Given the description of an element on the screen output the (x, y) to click on. 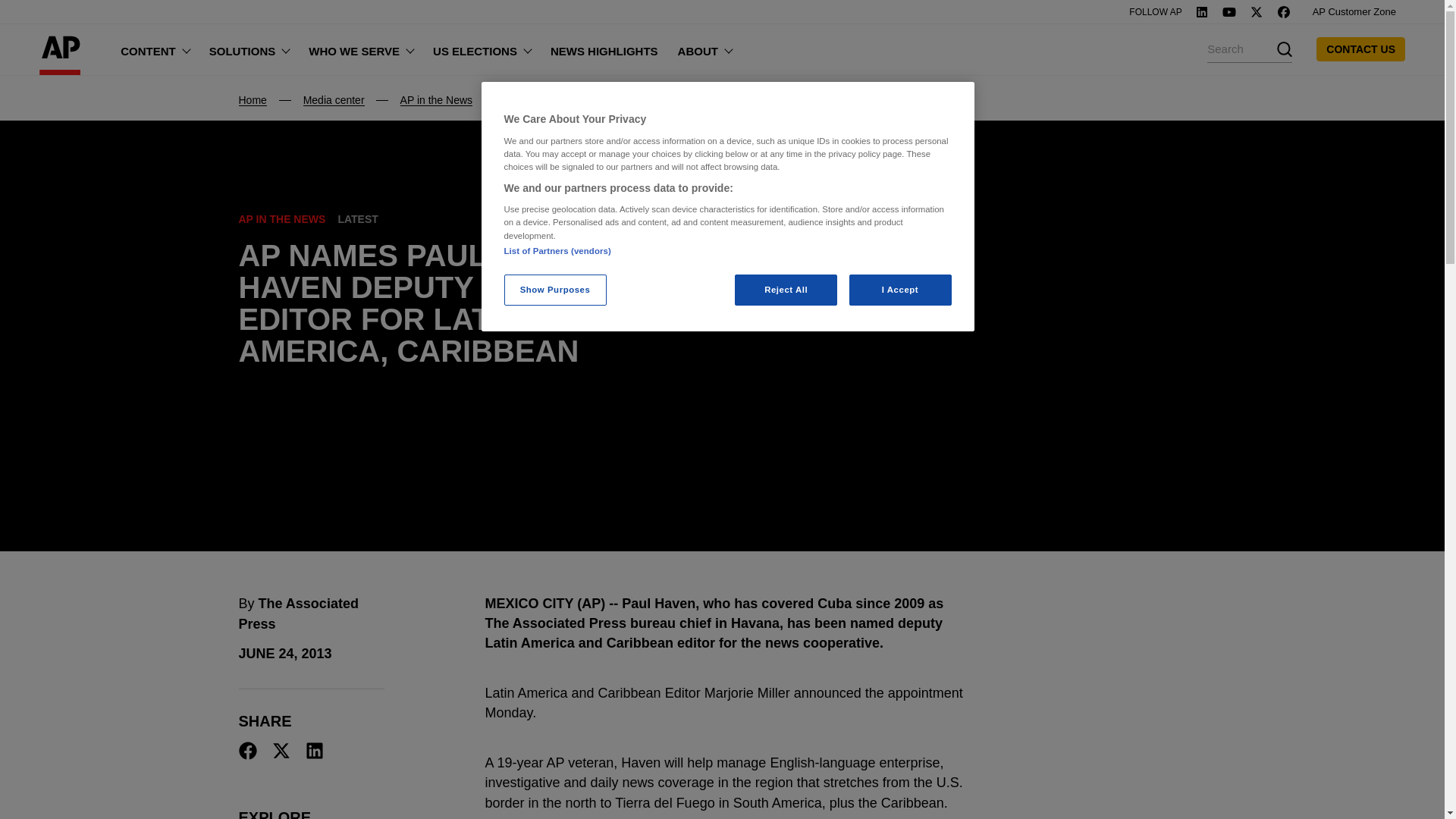
SOLUTIONS (249, 49)
Youtube (1228, 11)
Twitter (1256, 11)
Linkedin (1201, 11)
CONTENT (154, 49)
Share on Twitter (279, 751)
AP Customer Zone (1354, 11)
Share on Facebook (247, 751)
Share on LinkedIn (313, 751)
